Given the description of an element on the screen output the (x, y) to click on. 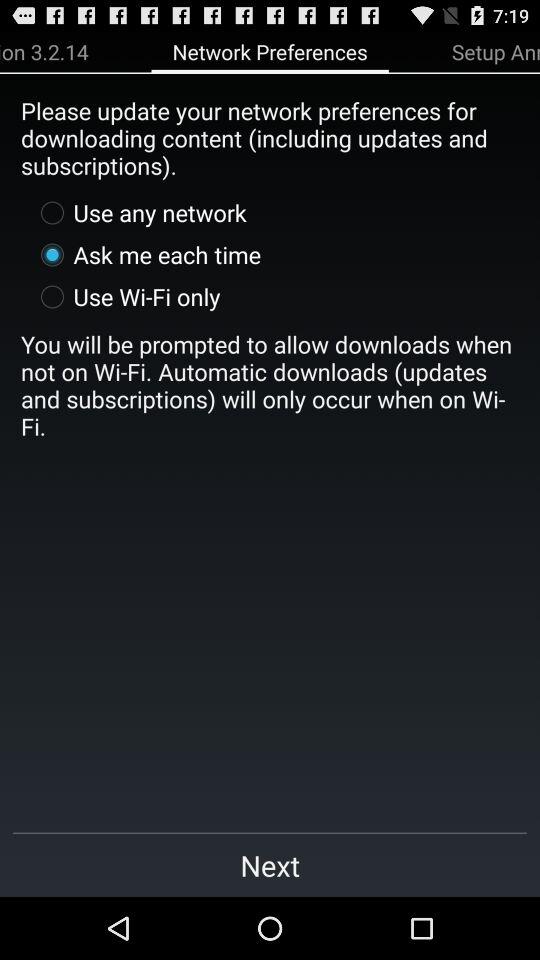
turn off the icon above ask me each (138, 212)
